Given the description of an element on the screen output the (x, y) to click on. 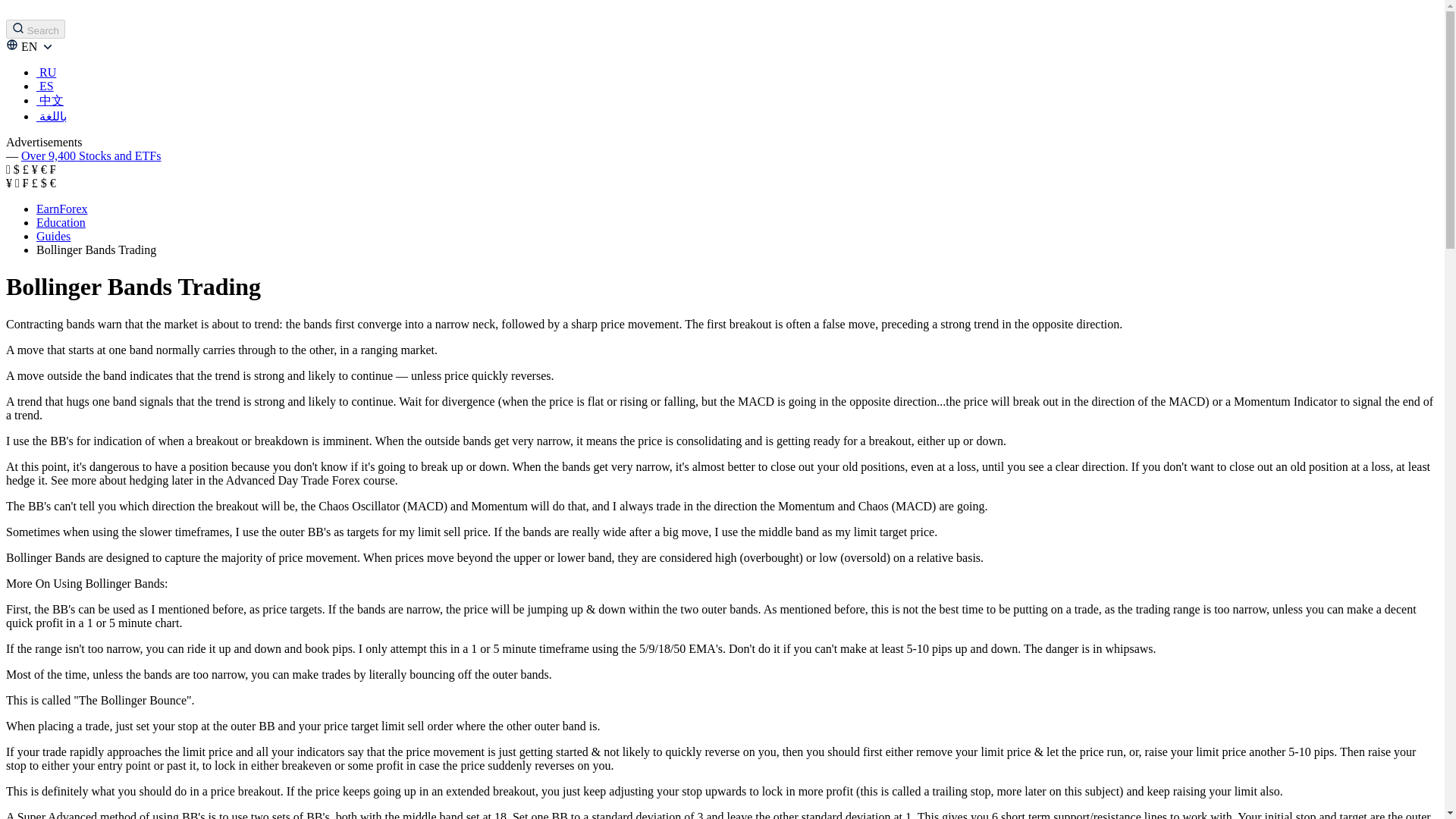
EarnForex (61, 208)
RU (46, 72)
Search (35, 28)
Bollinger Bands Trading (95, 249)
Guides (52, 236)
ES (44, 85)
Guides (52, 236)
Education (60, 222)
Education (60, 222)
Over 9,400 Stocks and ETFs (90, 155)
EarnForex (61, 208)
